Given the description of an element on the screen output the (x, y) to click on. 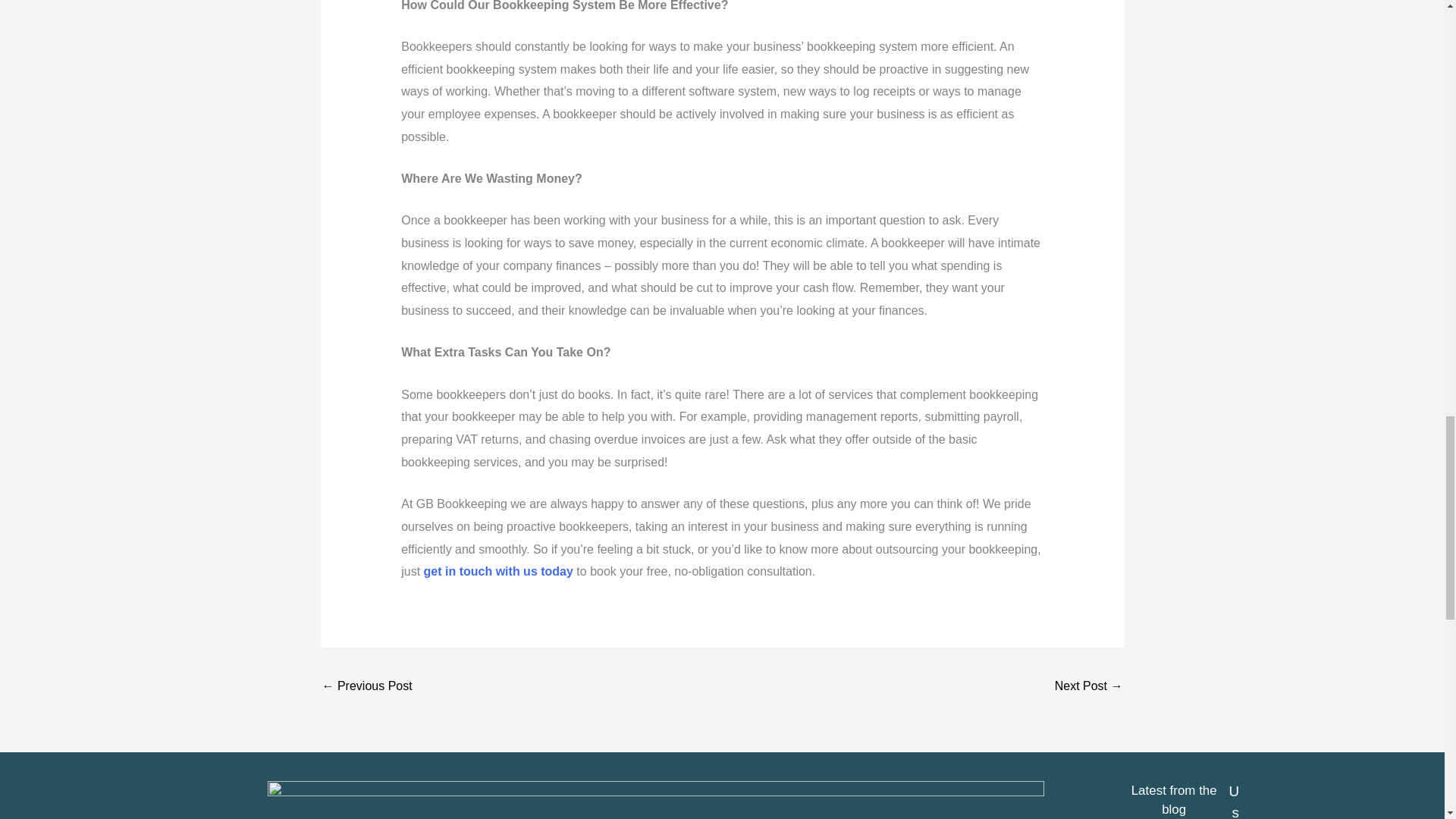
get in touch with us today (498, 571)
Are You Planning for Your Tax Bill? (1088, 687)
